Given the description of an element on the screen output the (x, y) to click on. 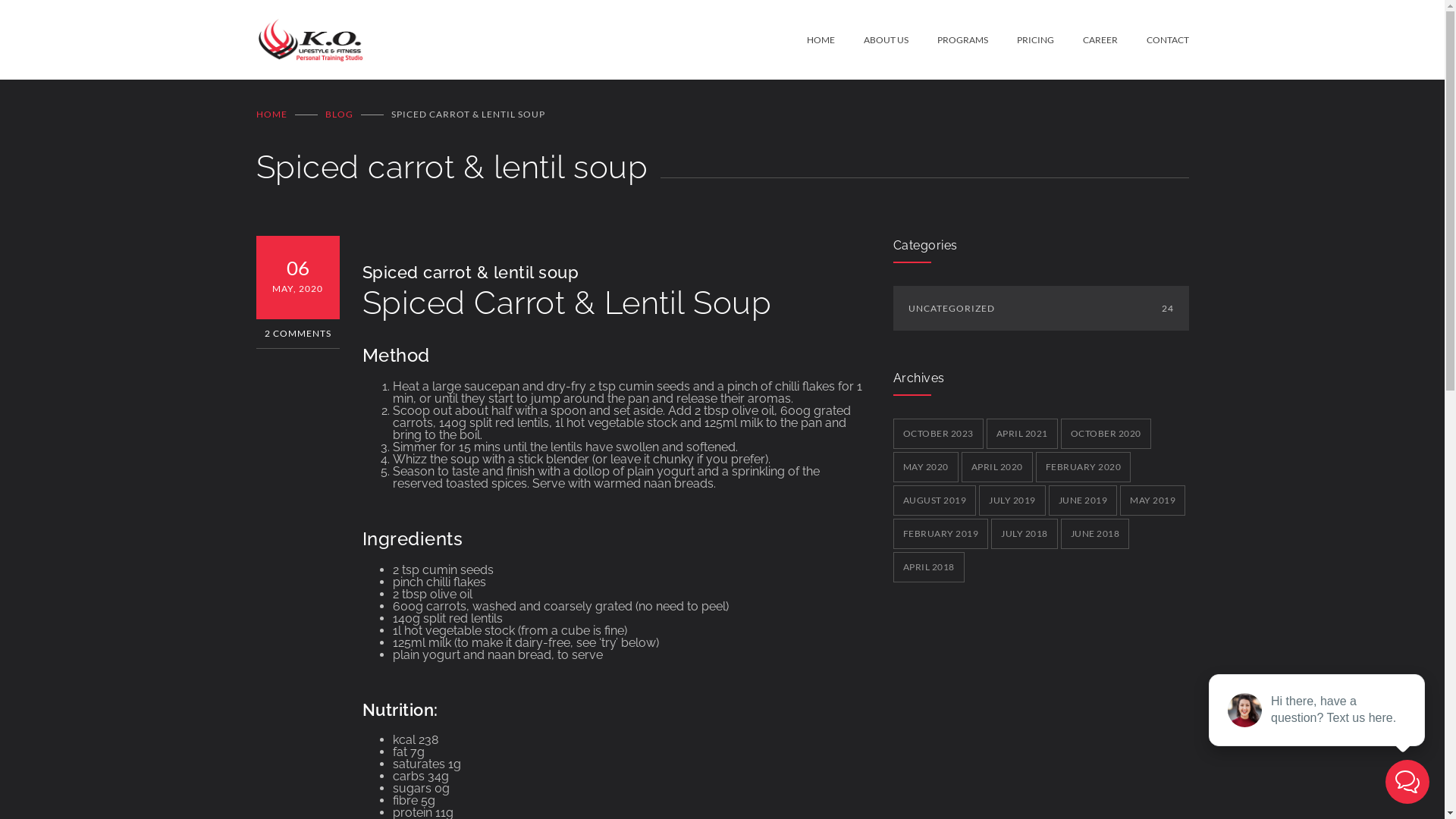
CAREER Element type: text (1085, 40)
Ko Lifestyle And Fitness Element type: hover (531, 39)
OCTOBER 2023 Element type: text (938, 433)
JULY 2019 Element type: text (1012, 500)
OCTOBER 2020 Element type: text (1105, 433)
AUGUST 2019 Element type: text (934, 500)
FEBRUARY 2019 Element type: text (940, 533)
HOME Element type: text (271, 113)
ABOUT US Element type: text (870, 40)
APRIL 2020 Element type: text (996, 466)
Spiced carrot & lentil soup Element type: text (470, 272)
APRIL 2018 Element type: text (928, 567)
MAY 2020 Element type: text (925, 466)
CONTACT Element type: text (1153, 40)
PRICING Element type: text (1020, 40)
HOME Element type: text (820, 40)
UNCATEGORIZED
24 Element type: text (1041, 307)
BLOG Element type: text (338, 113)
JUNE 2019 Element type: text (1082, 500)
PROGRAMS Element type: text (948, 40)
FEBRUARY 2020 Element type: text (1083, 466)
JUNE 2018 Element type: text (1094, 533)
MAY 2019 Element type: text (1152, 500)
2 COMMENTS Element type: text (297, 333)
APRIL 2021 Element type: text (1021, 433)
JULY 2018 Element type: text (1024, 533)
